Given the description of an element on the screen output the (x, y) to click on. 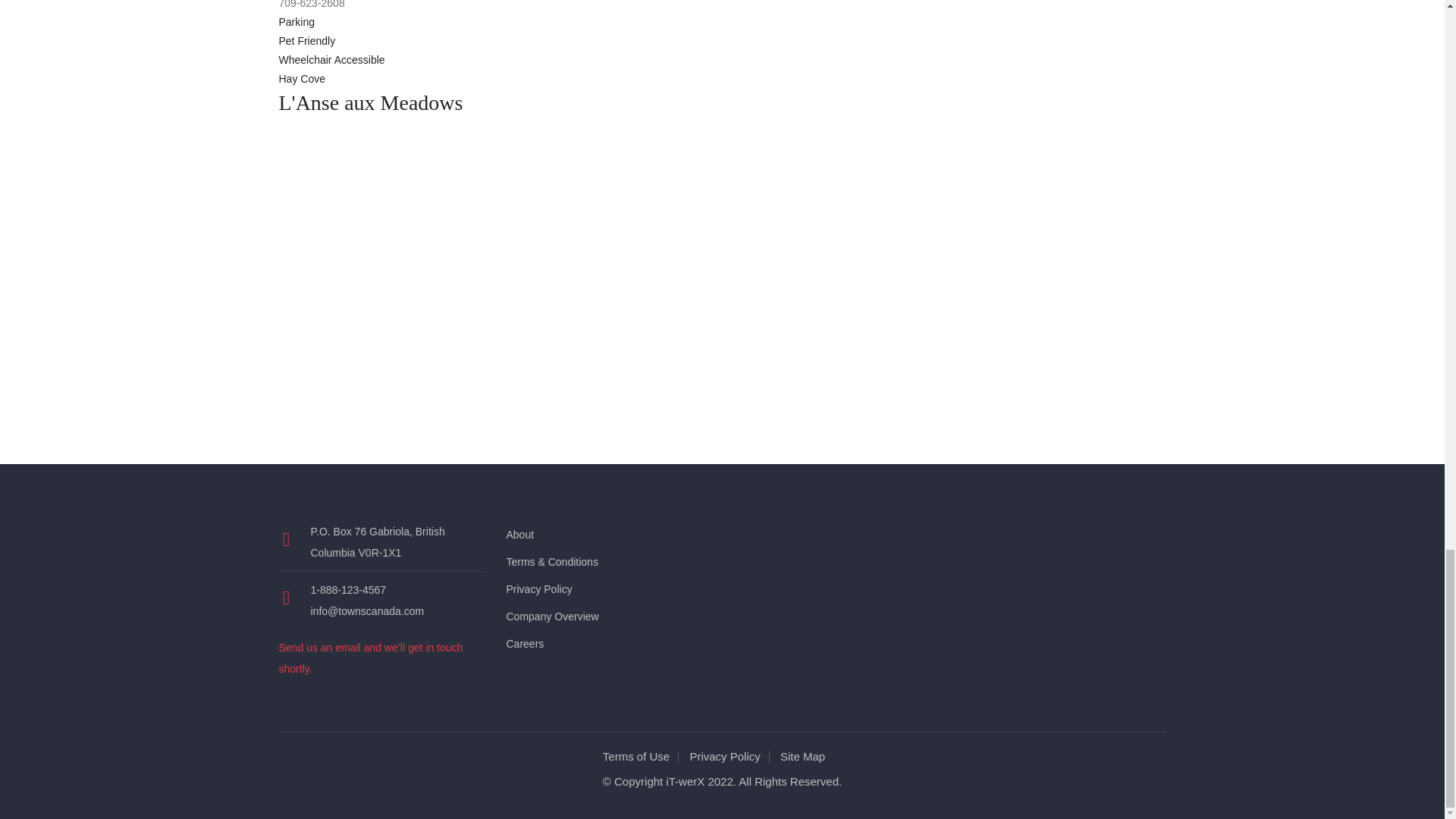
Pet Friendly (307, 40)
British Columbia (378, 541)
Company Overview (552, 616)
Wheelchair Accessible (332, 60)
Privacy Policy (539, 589)
iT-werX (684, 780)
Privacy Policy (728, 756)
Terms of Use (640, 756)
Parking (296, 21)
